Given the description of an element on the screen output the (x, y) to click on. 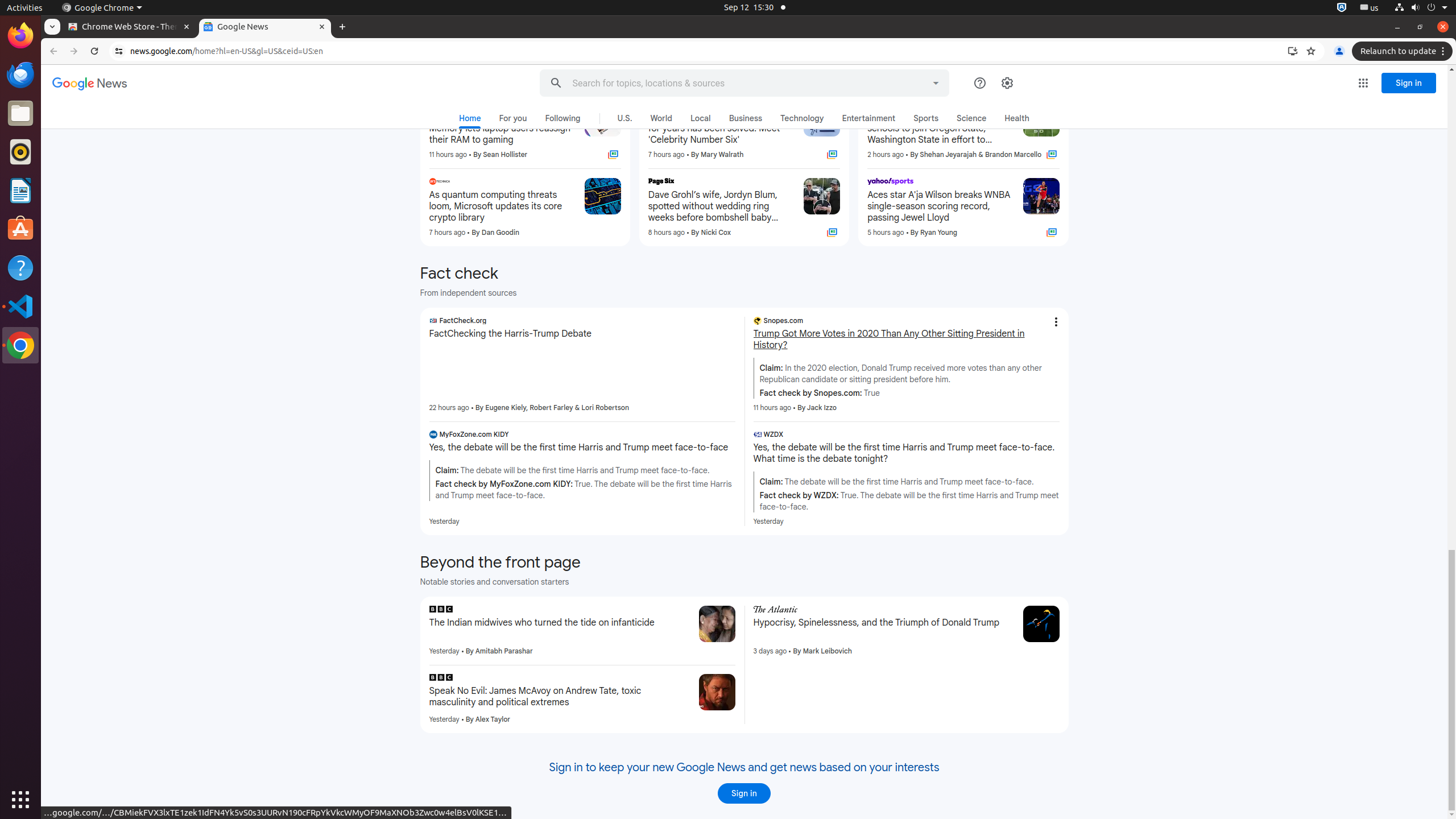
Full Coverage Element type: link (1051, 232)
System Element type: menu (1420, 7)
Relaunch to update Element type: push-button (1403, 50)
Google Chrome Element type: push-button (20, 344)
Hypocrisy, Spinelessness, and the Triumph of Donald Trump Element type: link (883, 622)
